Given the description of an element on the screen output the (x, y) to click on. 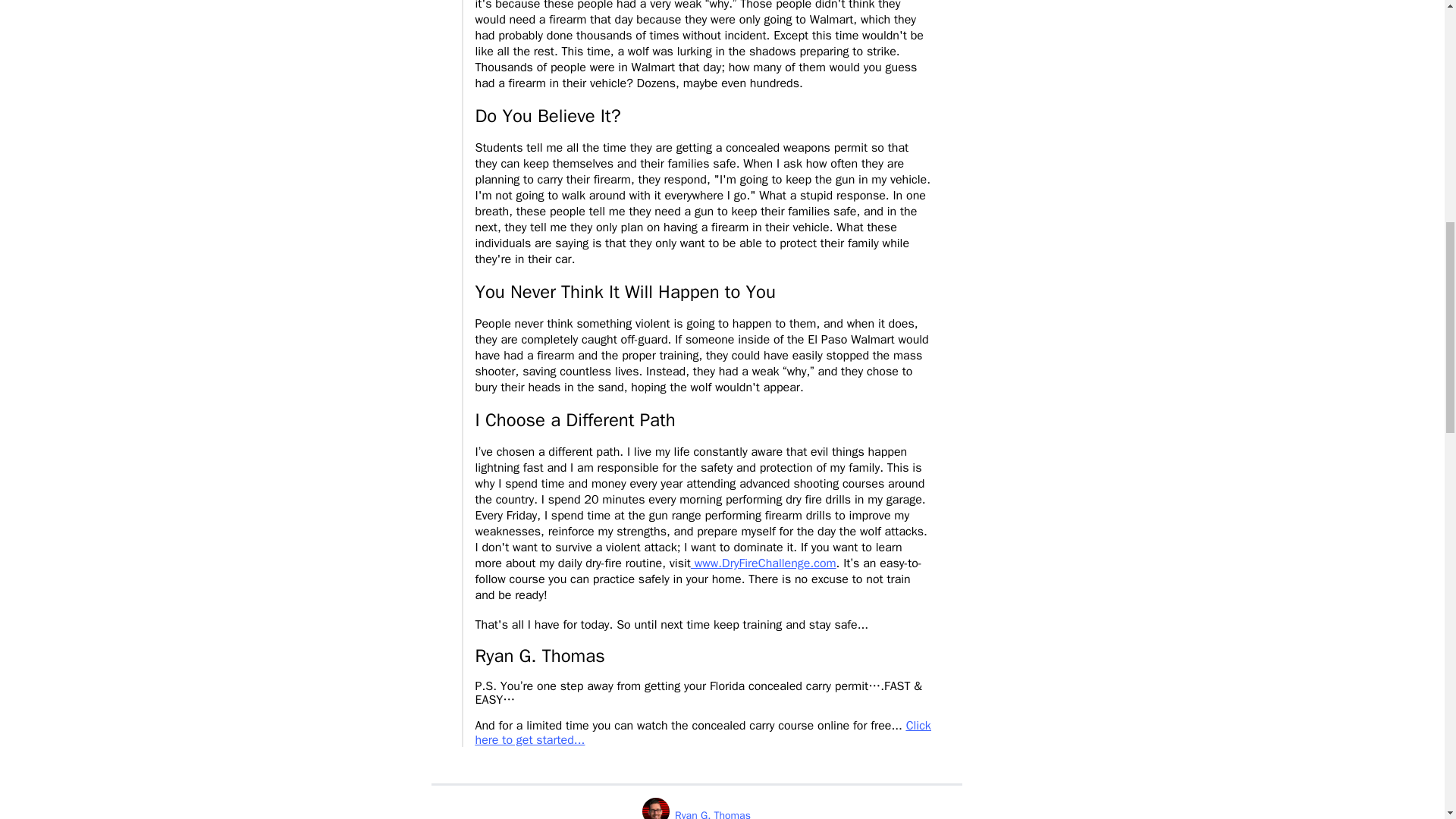
Click here to get started... (702, 732)
 www.DryFireChallenge.com (762, 563)
Ryan G. Thomas (696, 808)
